Given the description of an element on the screen output the (x, y) to click on. 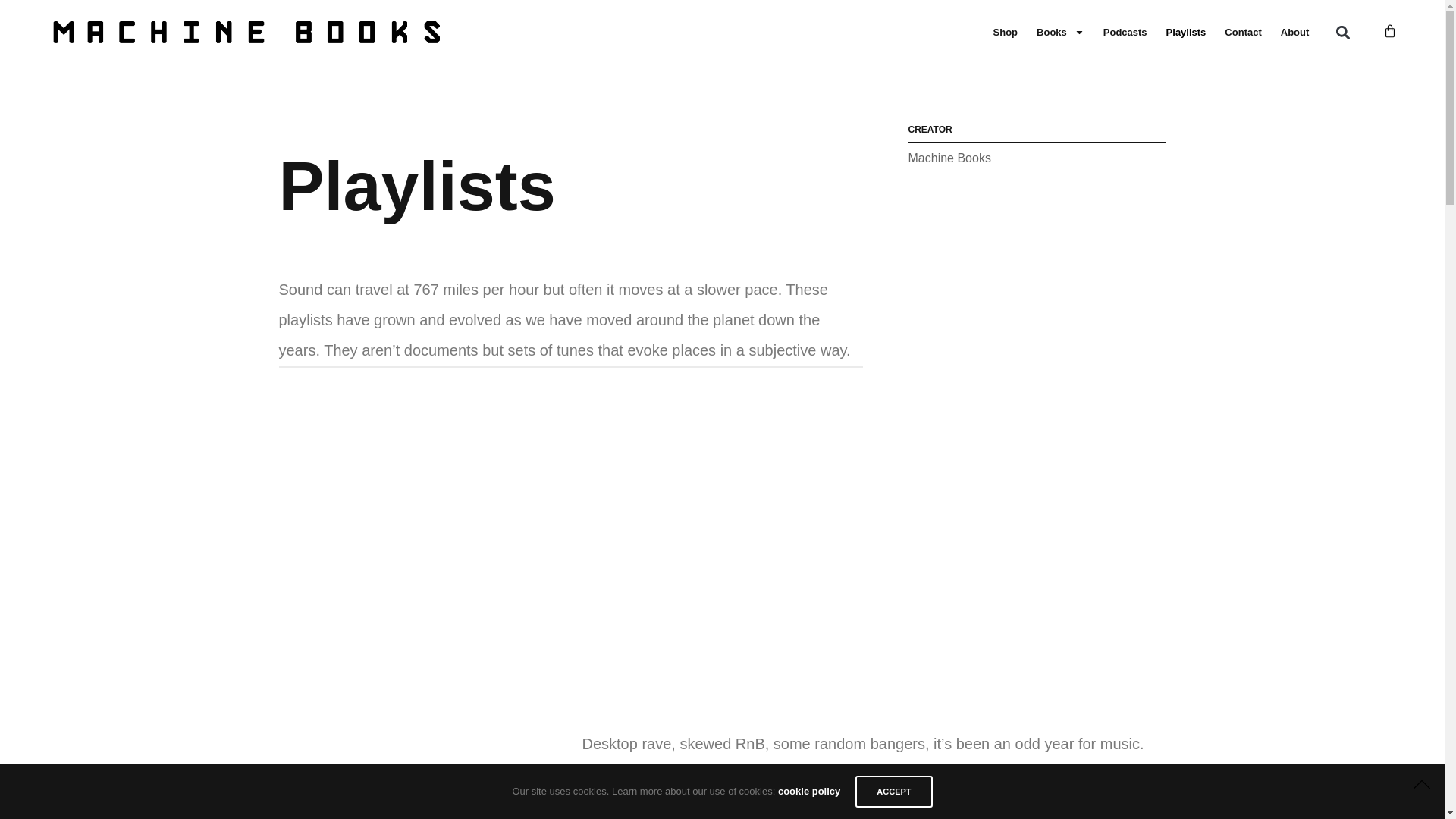
Playlists (1186, 31)
Books (1060, 31)
Shop (1004, 31)
Contact (1242, 31)
Podcasts (1125, 31)
About (1294, 31)
